Given the description of an element on the screen output the (x, y) to click on. 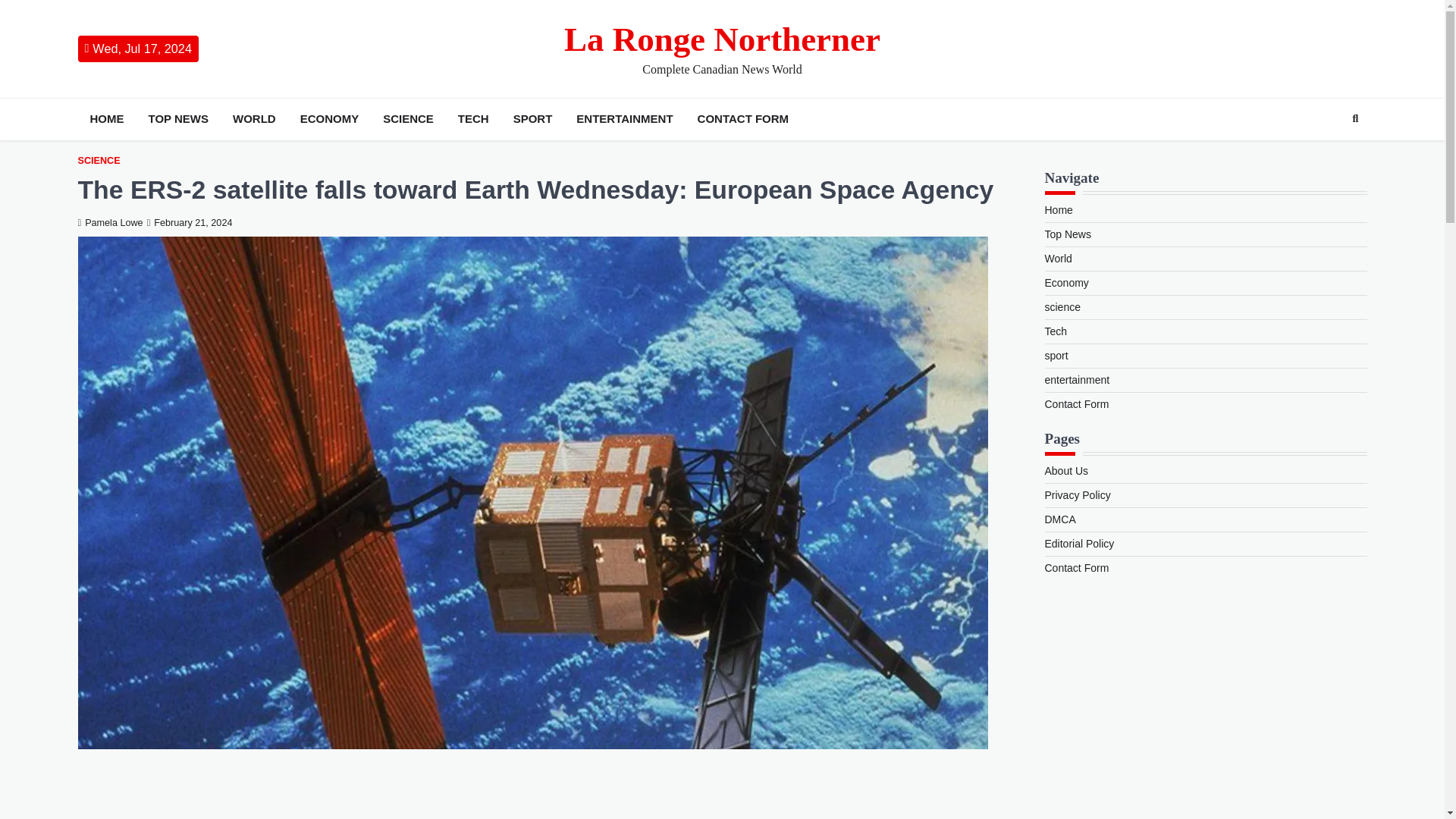
La Ronge Northerner (722, 39)
Contact Form (1077, 404)
sport (1056, 355)
Economy (1067, 282)
Search (1355, 118)
ENTERTAINMENT (624, 118)
Tech (1056, 331)
science (1062, 306)
World (1058, 258)
Privacy Policy (1077, 494)
HOME (105, 118)
CONTACT FORM (742, 118)
WORLD (254, 118)
About Us (1067, 470)
Search (1327, 154)
